Given the description of an element on the screen output the (x, y) to click on. 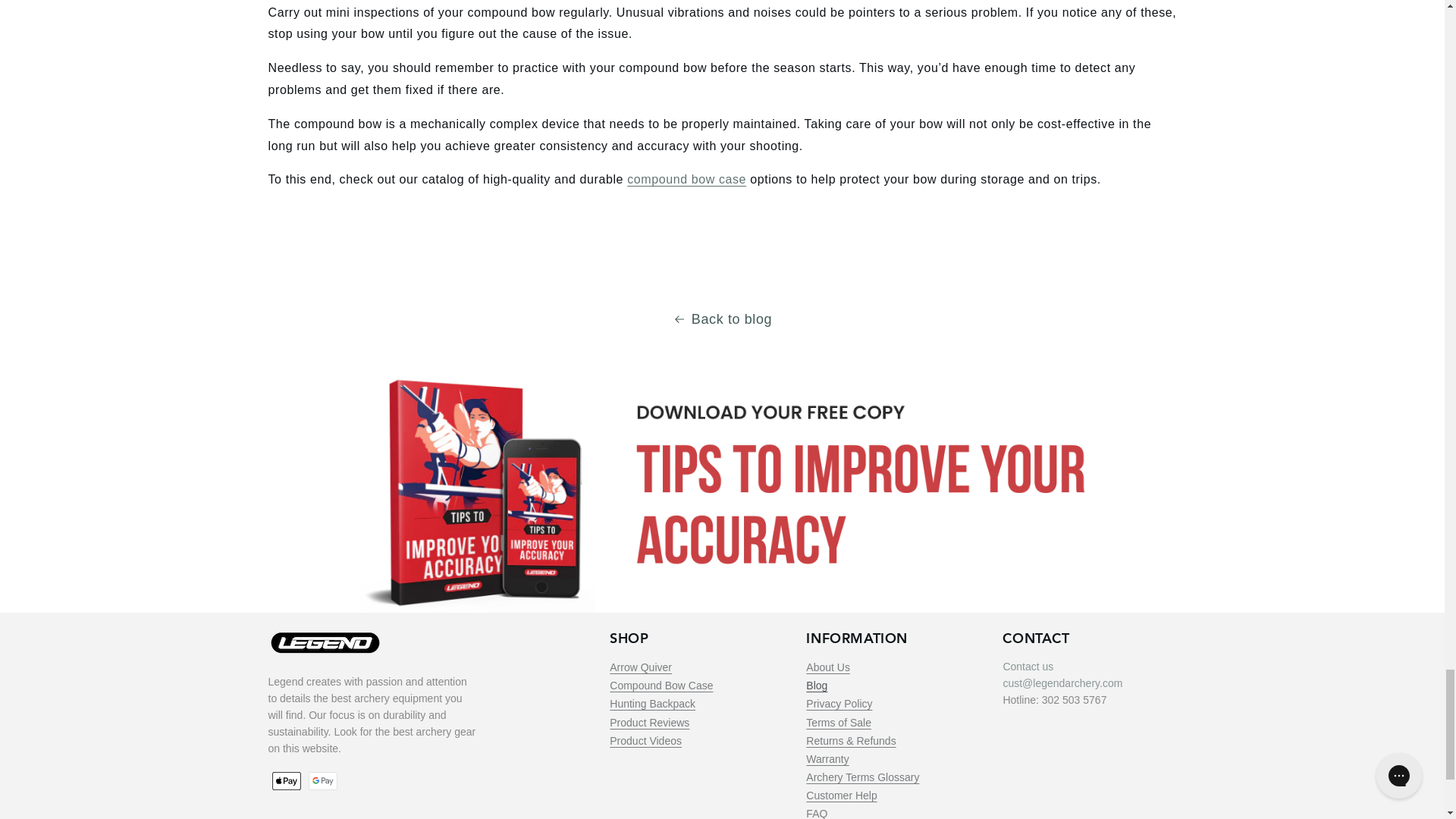
Contact Us (1027, 666)
